Given the description of an element on the screen output the (x, y) to click on. 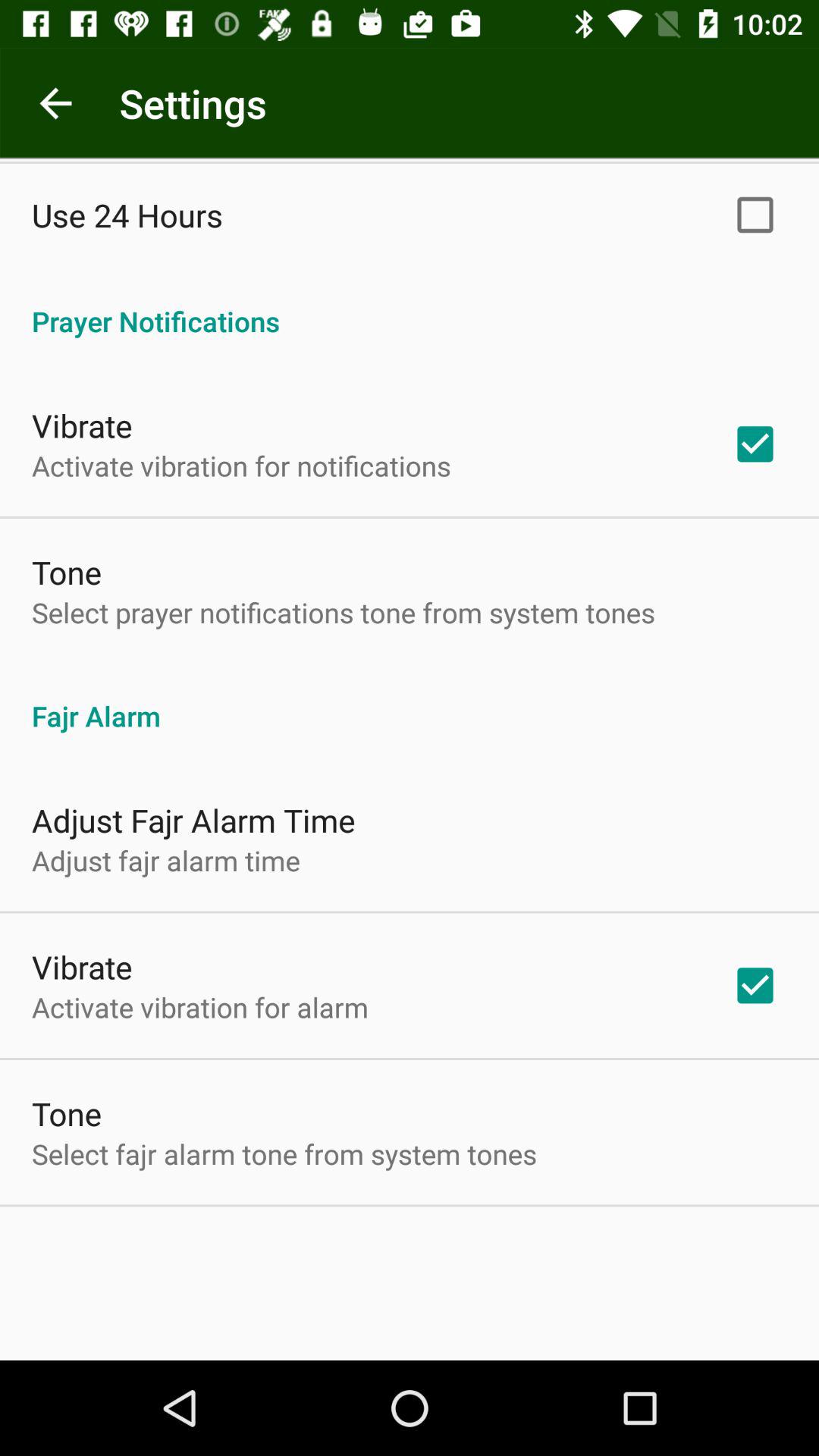
turn on item above the use 24 hours (55, 103)
